Given the description of an element on the screen output the (x, y) to click on. 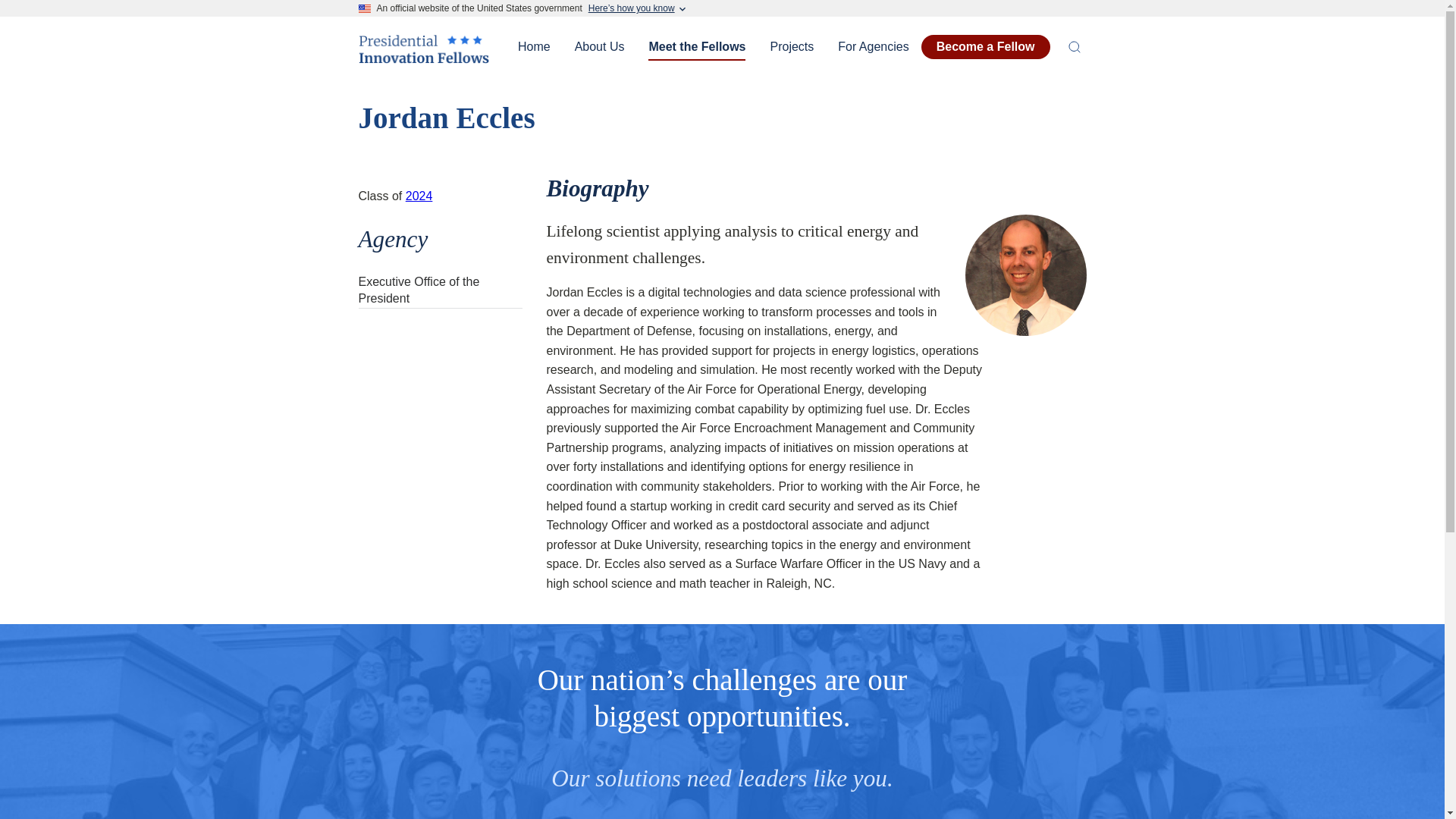
Projects (791, 46)
For Agencies (872, 46)
2024 (419, 195)
search the site (1073, 46)
Become a Fellow (985, 46)
Home (533, 46)
Meet the Fellows (696, 46)
Home (422, 57)
About Us (599, 46)
